Given the description of an element on the screen output the (x, y) to click on. 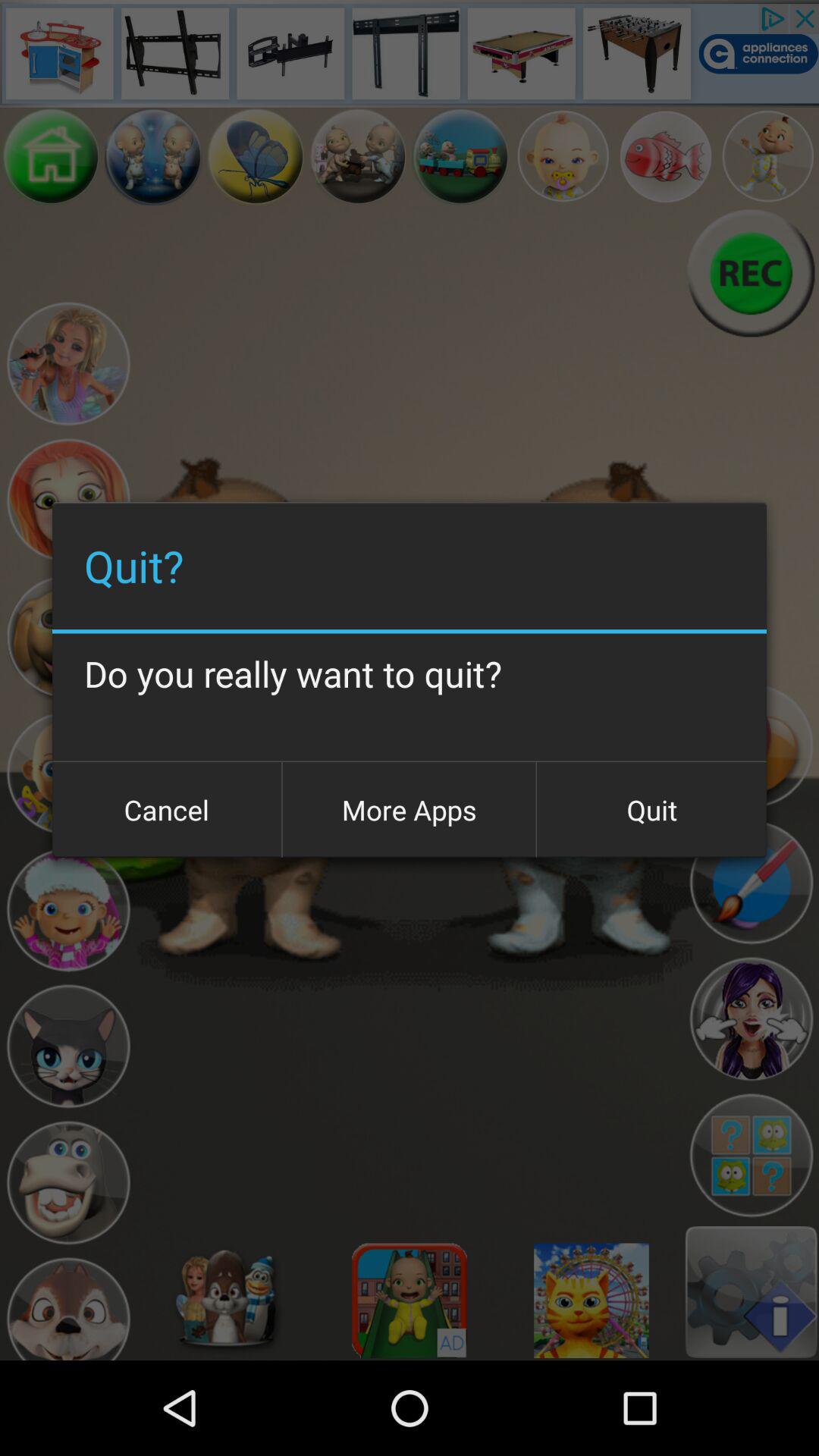
get a butterfly (255, 156)
